Given the description of an element on the screen output the (x, y) to click on. 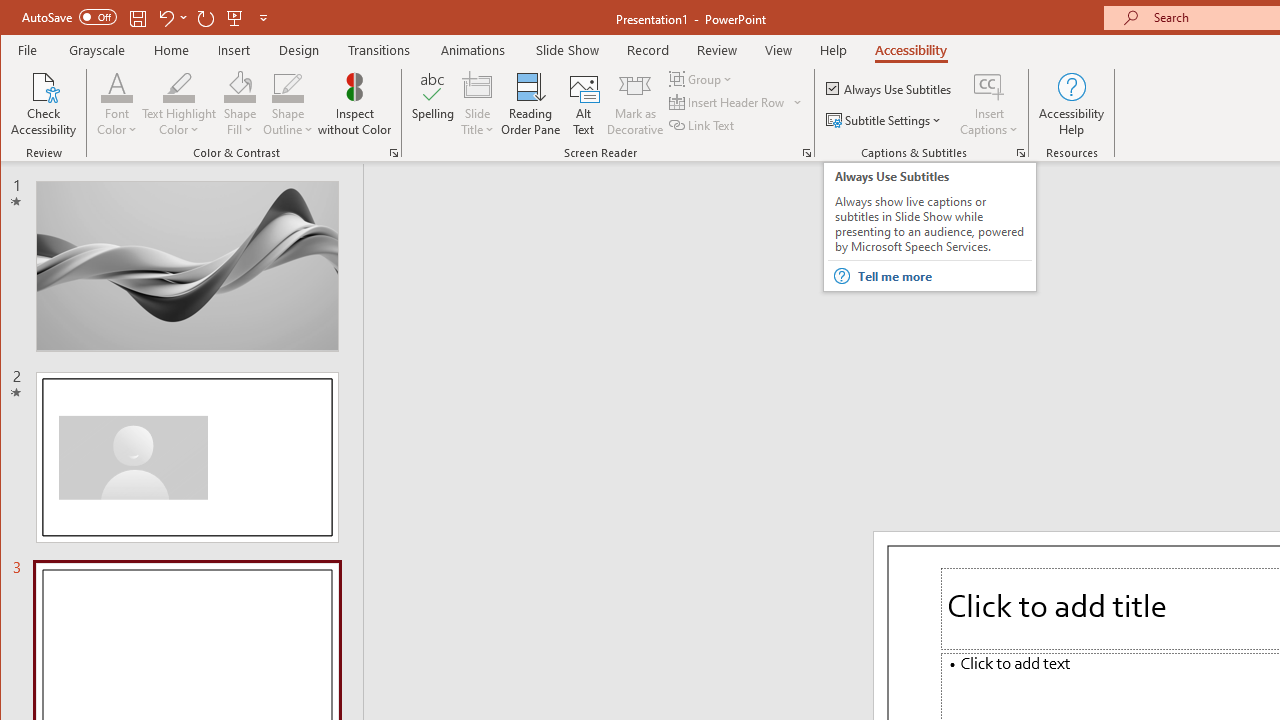
Link Text (703, 124)
Insert Header Row (728, 101)
Insert Header Row (735, 101)
Subtitle Settings (885, 119)
Slide Title (477, 104)
